Given the description of an element on the screen output the (x, y) to click on. 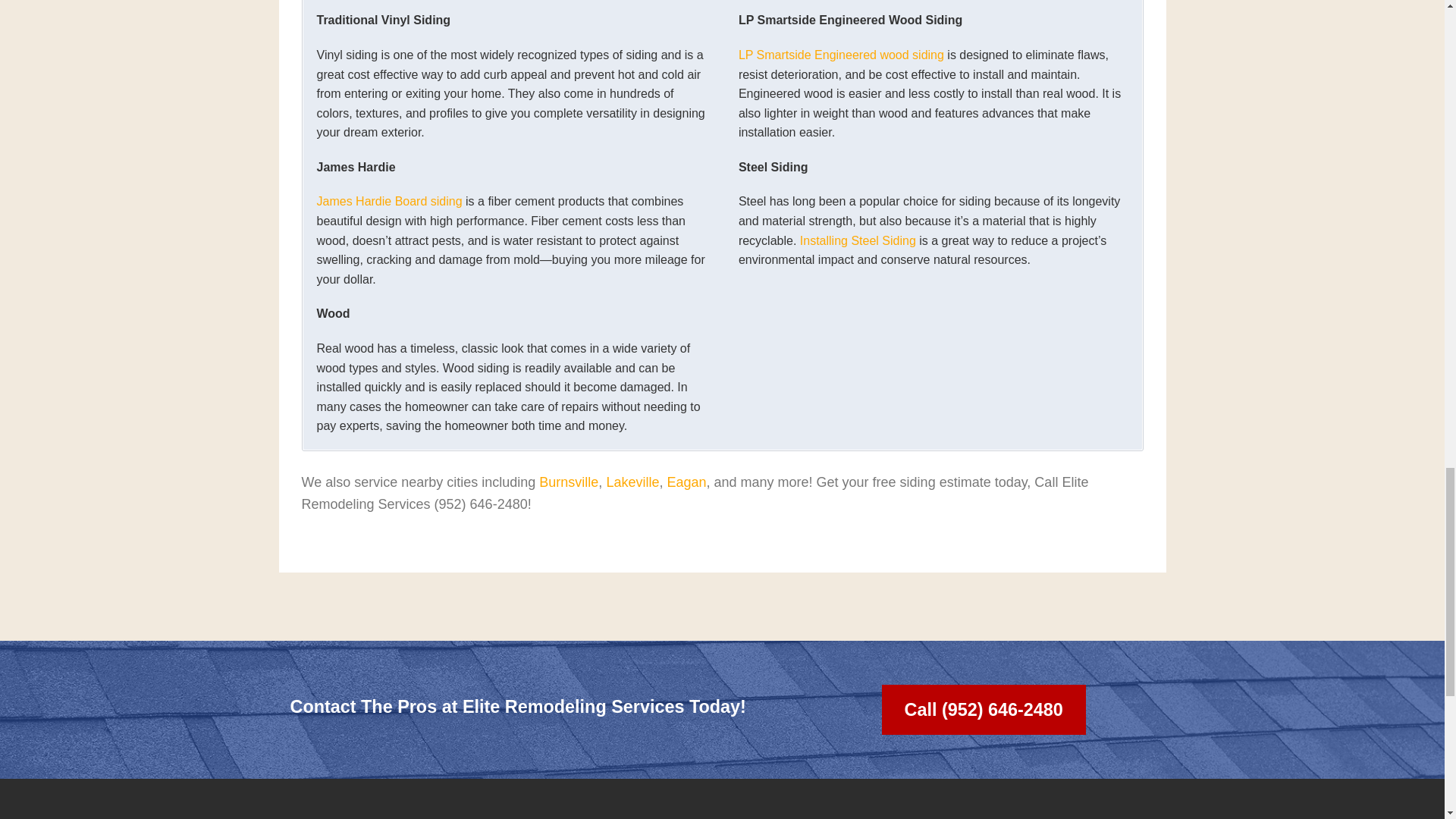
Eagan (686, 482)
James Hardie Board siding (390, 201)
Lakeville (632, 482)
Installing Steel Siding (857, 240)
Burnsville (568, 482)
LP Smartside Engineered wood siding (840, 54)
